Given the description of an element on the screen output the (x, y) to click on. 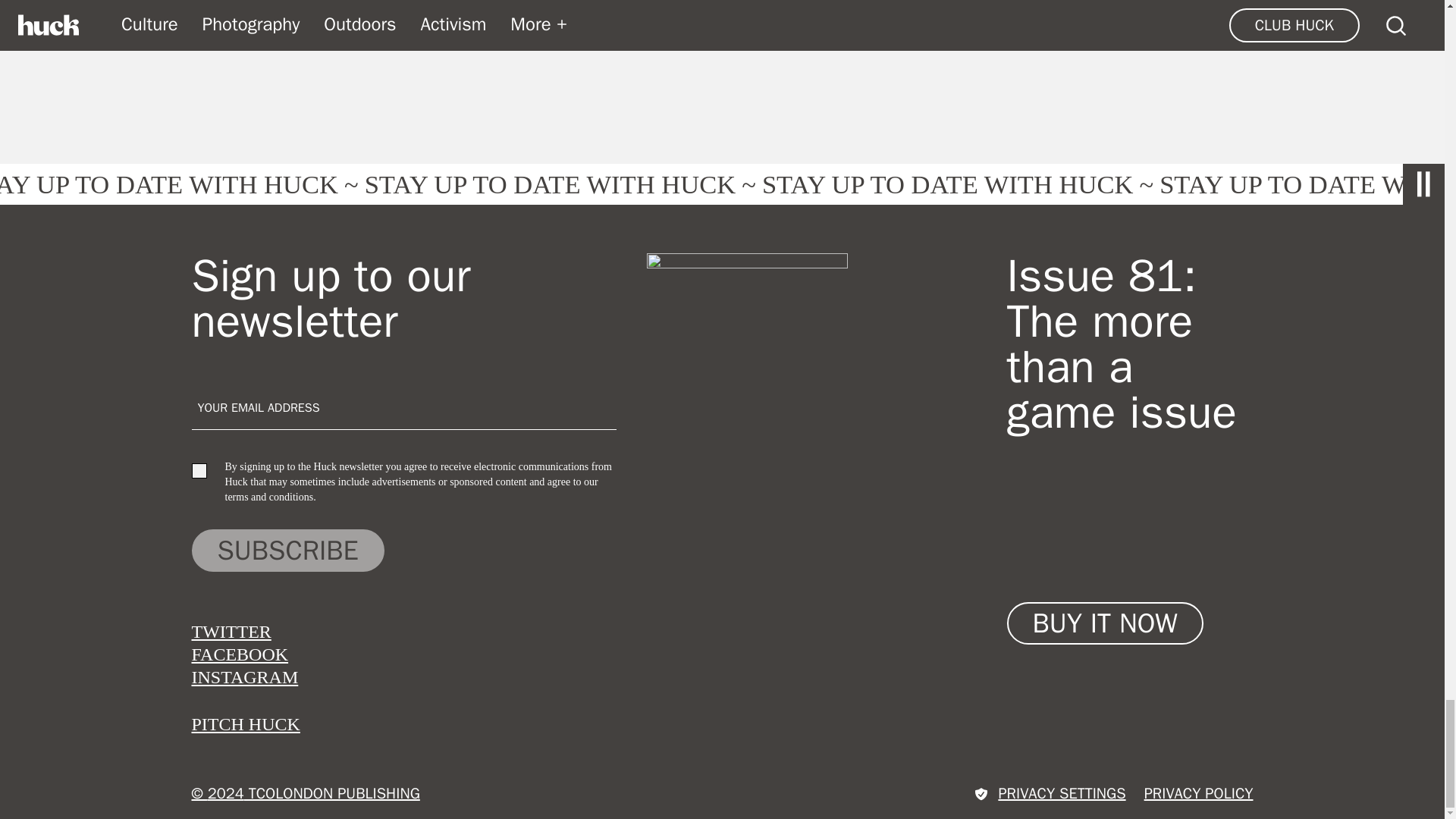
TWITTER (230, 631)
BOOKS (240, 15)
PUBLISHING (896, 15)
PITCH HUCK (244, 723)
KIT CALESS (759, 15)
on (198, 470)
BUY IT NOW (1105, 622)
SUBSCRIBE (287, 550)
INSTAGRAM (244, 677)
HEAVY LIFTING (371, 15)
